Given the description of an element on the screen output the (x, y) to click on. 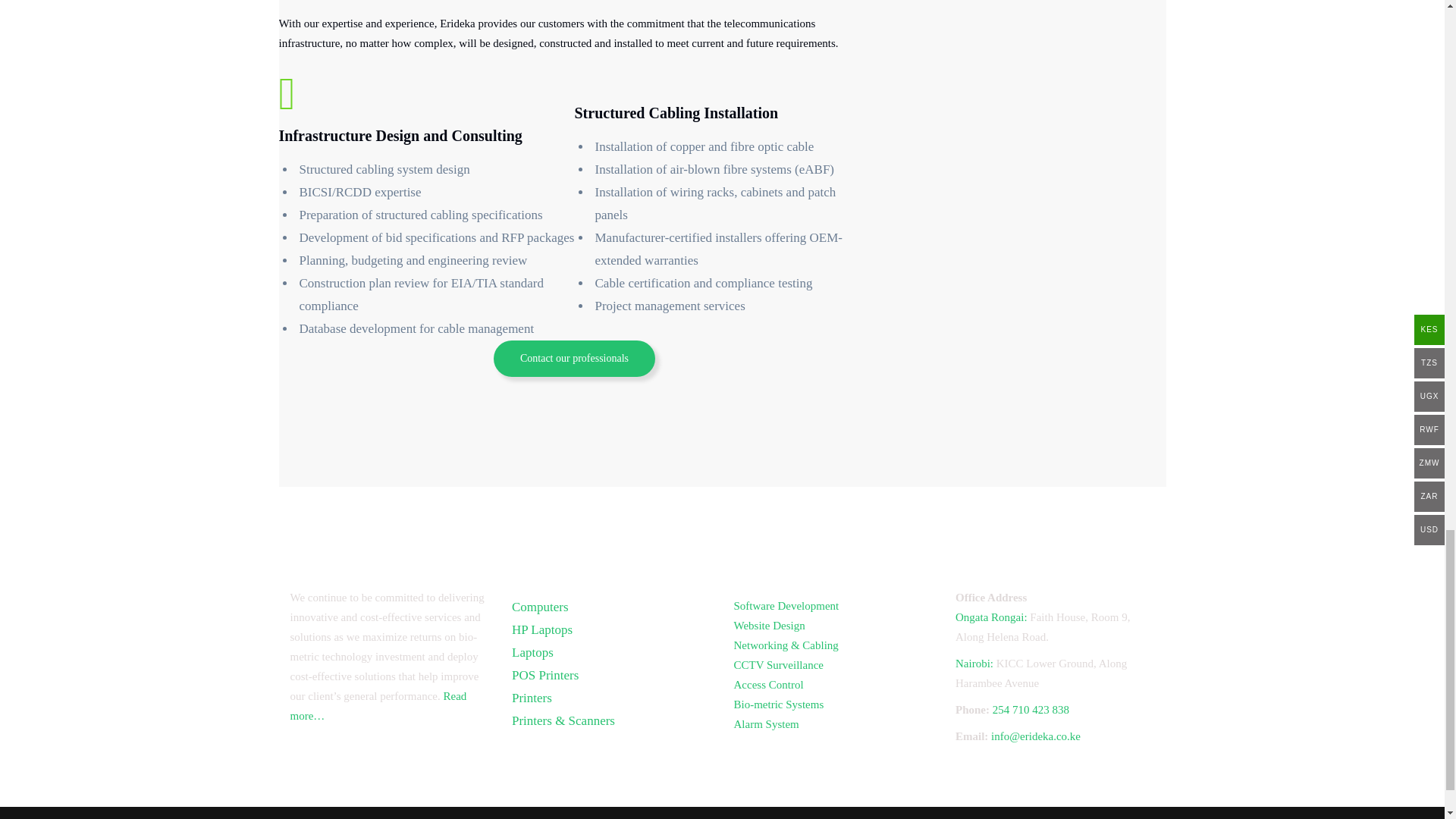
HP Laptops (542, 629)
Website Design (769, 625)
Contact our professionals (574, 358)
Contact Us (574, 358)
Printers (531, 698)
Computers (540, 606)
Software Development (786, 605)
Laptops (532, 652)
POS Printers (545, 675)
